Given the description of an element on the screen output the (x, y) to click on. 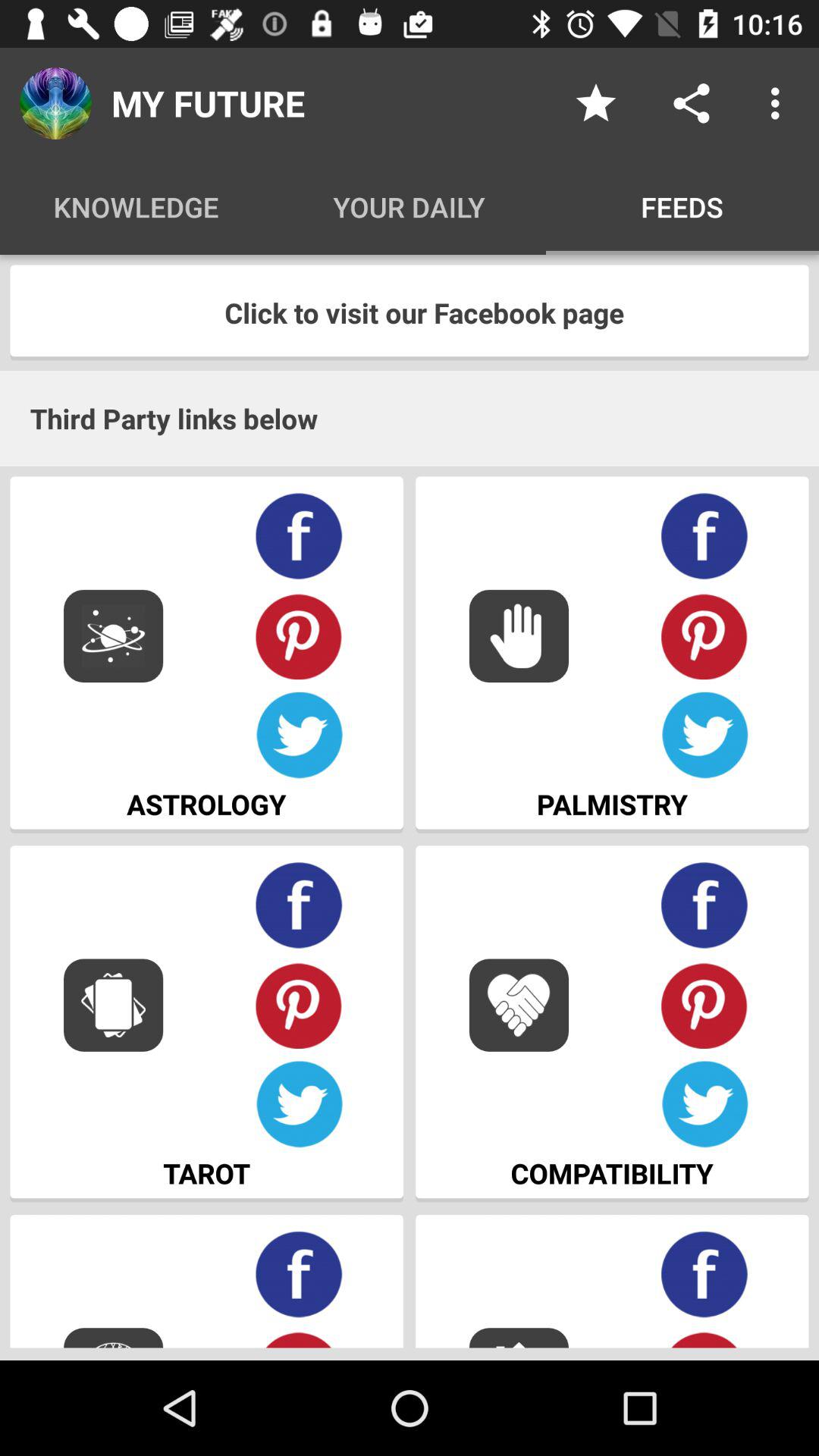
share via pinterest (704, 1337)
